Given the description of an element on the screen output the (x, y) to click on. 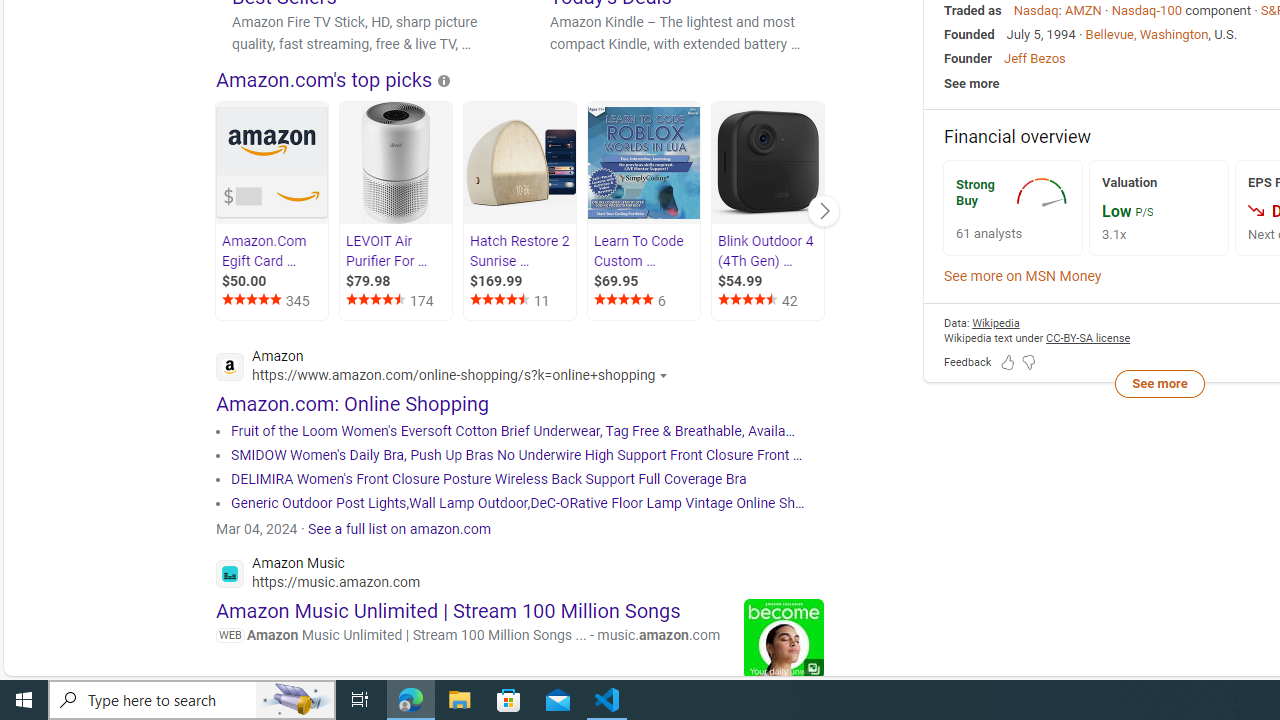
CC-BY-SA license (1088, 337)
Amazon.Com Egift Card (Instant Email Or Text Delivery) (271, 161)
See more on MSN Money (1023, 276)
$69.95 (645, 281)
Data attribution Wikipedia (995, 322)
Global web icon (229, 573)
AMZN (1082, 10)
Amazon.com: Online Shopping (353, 403)
